Given the description of an element on the screen output the (x, y) to click on. 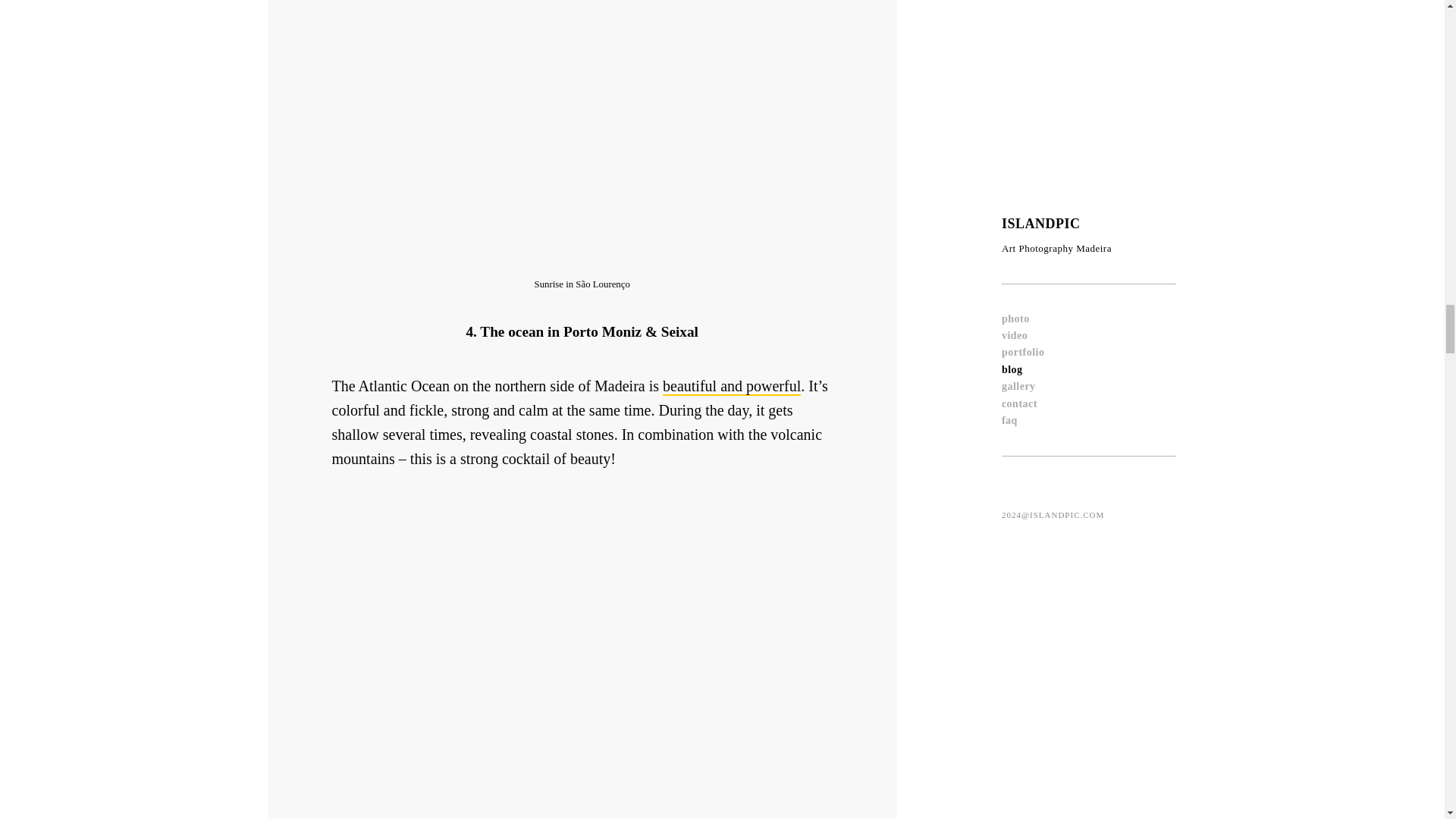
beautiful and powerful (731, 386)
